Given the description of an element on the screen output the (x, y) to click on. 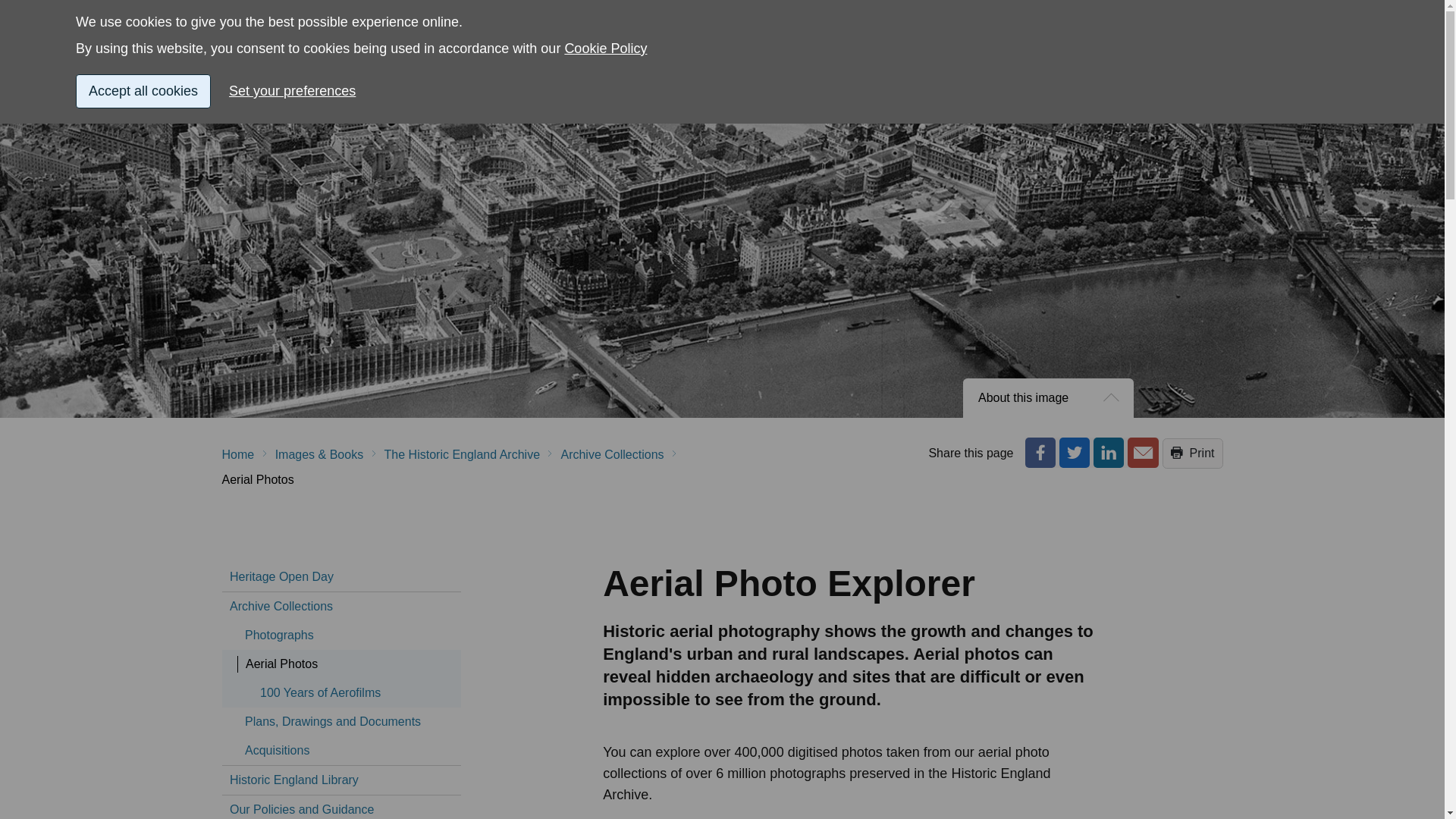
Share this page on Twitter (1073, 452)
Share this page on Facebook (1040, 452)
Advice (373, 82)
Accept all cookies (143, 66)
Cookie Policy (605, 6)
Print this page (1192, 453)
Search Historic England (1150, 36)
Share this page by Email (1141, 452)
What's New (1042, 82)
Search the site (1150, 36)
